Given the description of an element on the screen output the (x, y) to click on. 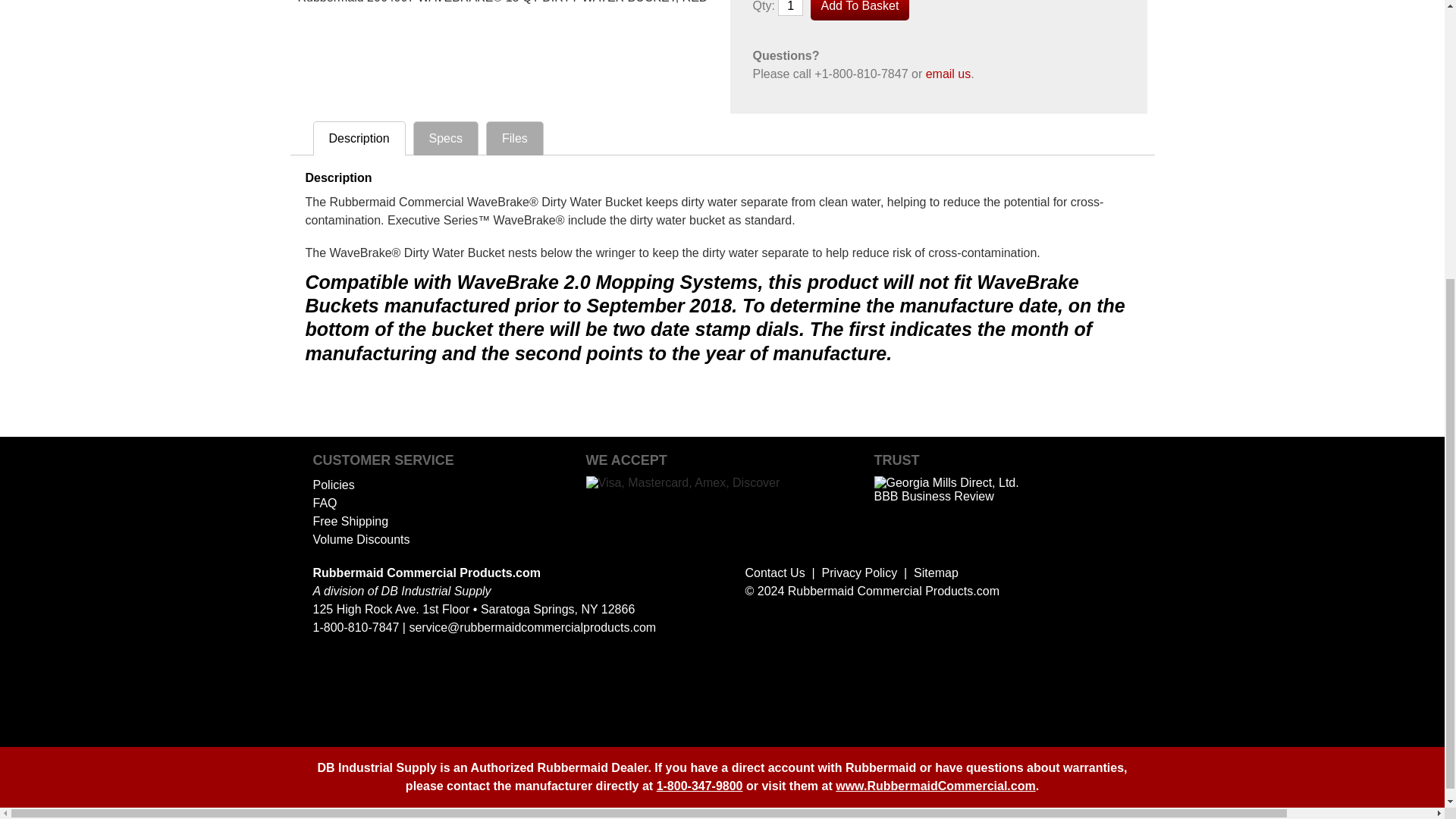
Add To Basket (859, 10)
1 (790, 7)
Georgia Mills Direct, Ltd. BBB Business Review (949, 495)
